Given the description of an element on the screen output the (x, y) to click on. 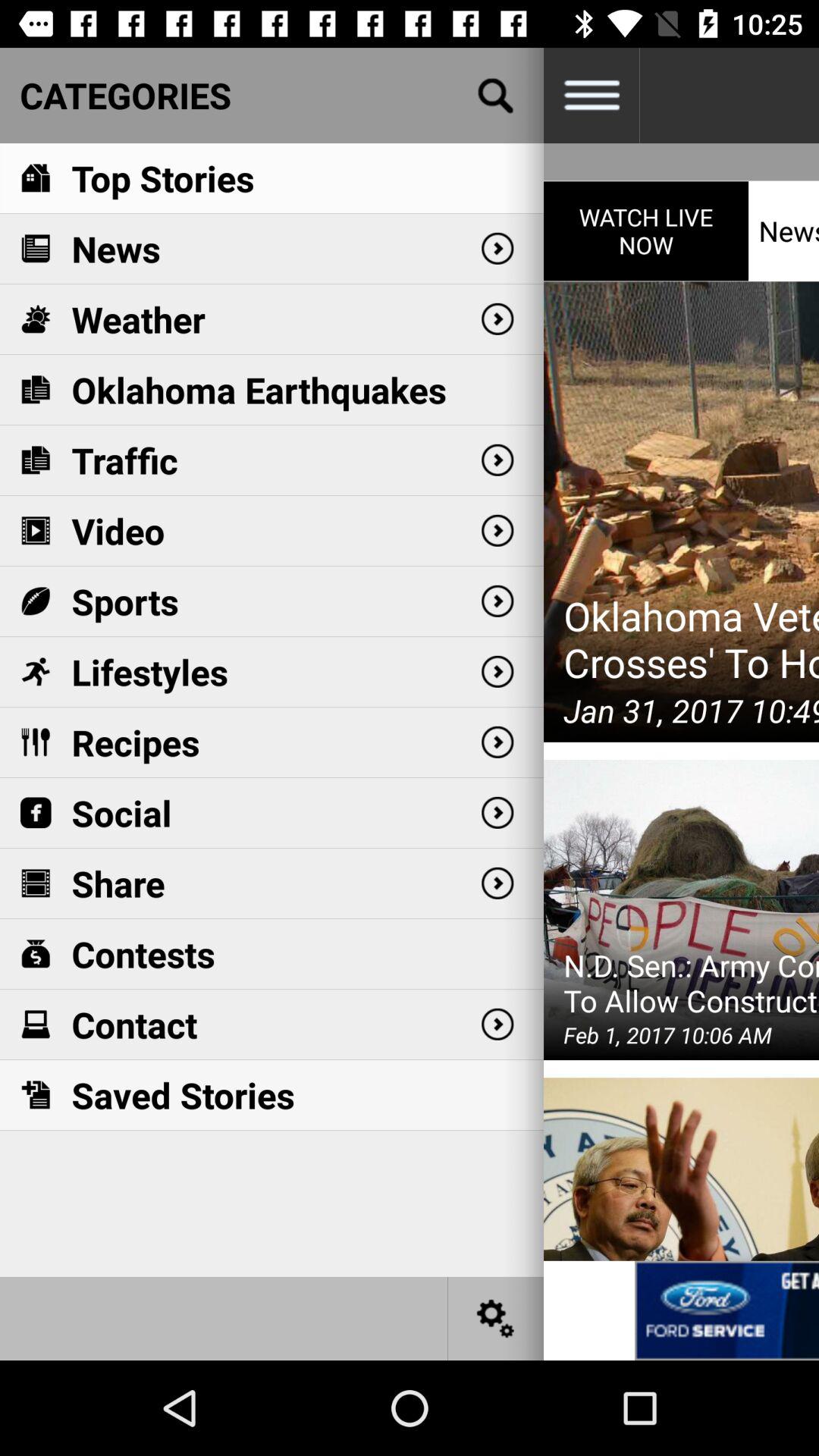
settings (495, 1318)
